Given the description of an element on the screen output the (x, y) to click on. 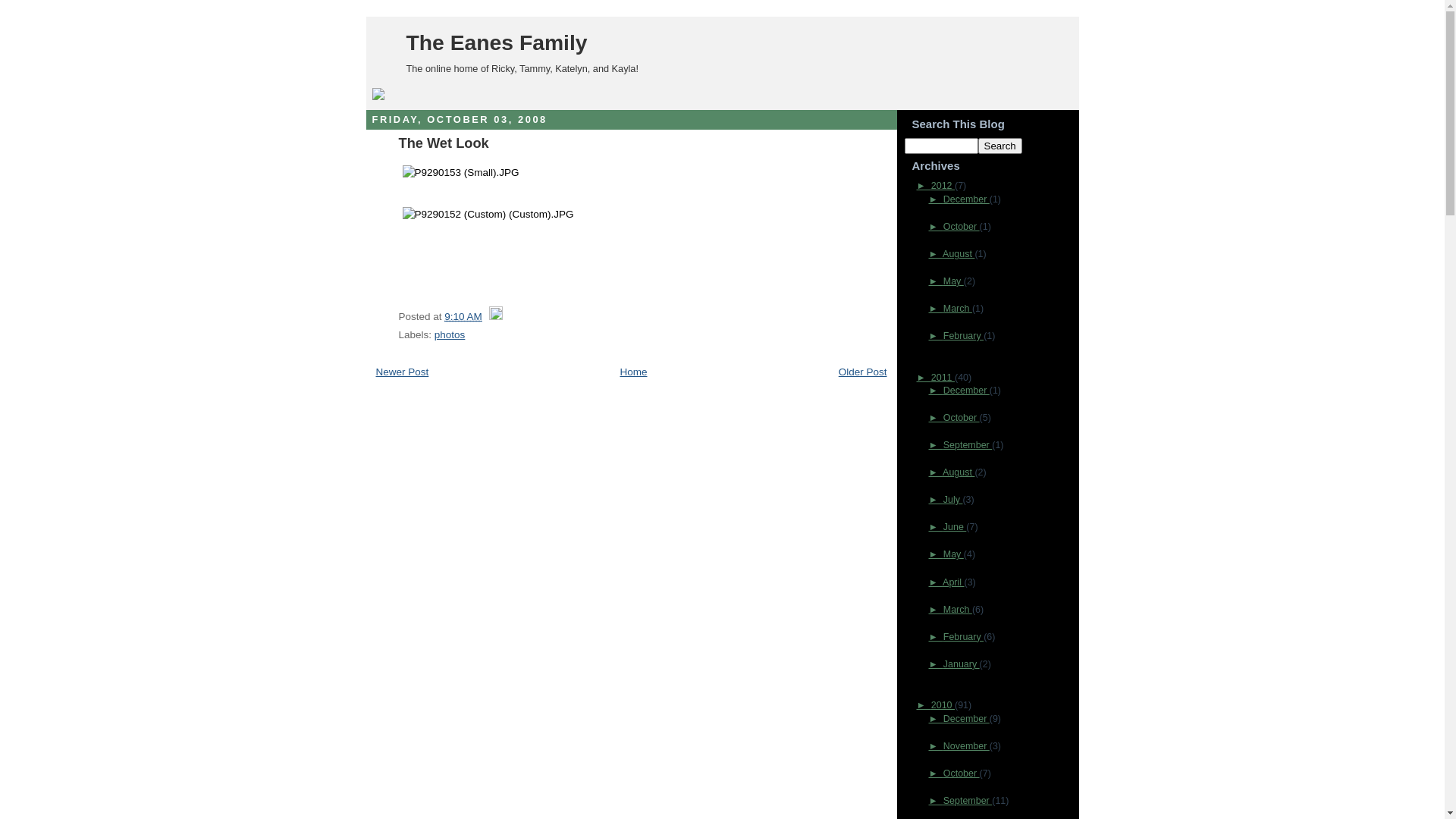
August Element type: text (958, 253)
July Element type: text (953, 499)
Home Element type: text (632, 371)
Newer Post Element type: text (402, 371)
March Element type: text (957, 308)
search Element type: hover (1000, 145)
March Element type: text (957, 609)
2011 Element type: text (942, 377)
December Element type: text (966, 390)
February Element type: text (963, 636)
October Element type: text (961, 773)
May Element type: text (953, 554)
October Element type: text (961, 226)
December Element type: text (966, 718)
The Eanes Family Element type: text (496, 42)
9:10 AM Element type: text (463, 316)
September Element type: text (967, 800)
Older Post Element type: text (862, 371)
October Element type: text (961, 417)
The Wet Look Element type: text (443, 142)
2012 Element type: text (942, 185)
photos Element type: text (449, 334)
June Element type: text (954, 526)
January Element type: text (961, 663)
February Element type: text (963, 335)
December Element type: text (966, 199)
November Element type: text (966, 745)
May Element type: text (953, 281)
Edit Post Element type: hover (495, 316)
September Element type: text (967, 444)
Search Element type: text (1000, 145)
August Element type: text (958, 472)
April Element type: text (952, 582)
2010 Element type: text (942, 704)
search Element type: hover (940, 145)
